Given the description of an element on the screen output the (x, y) to click on. 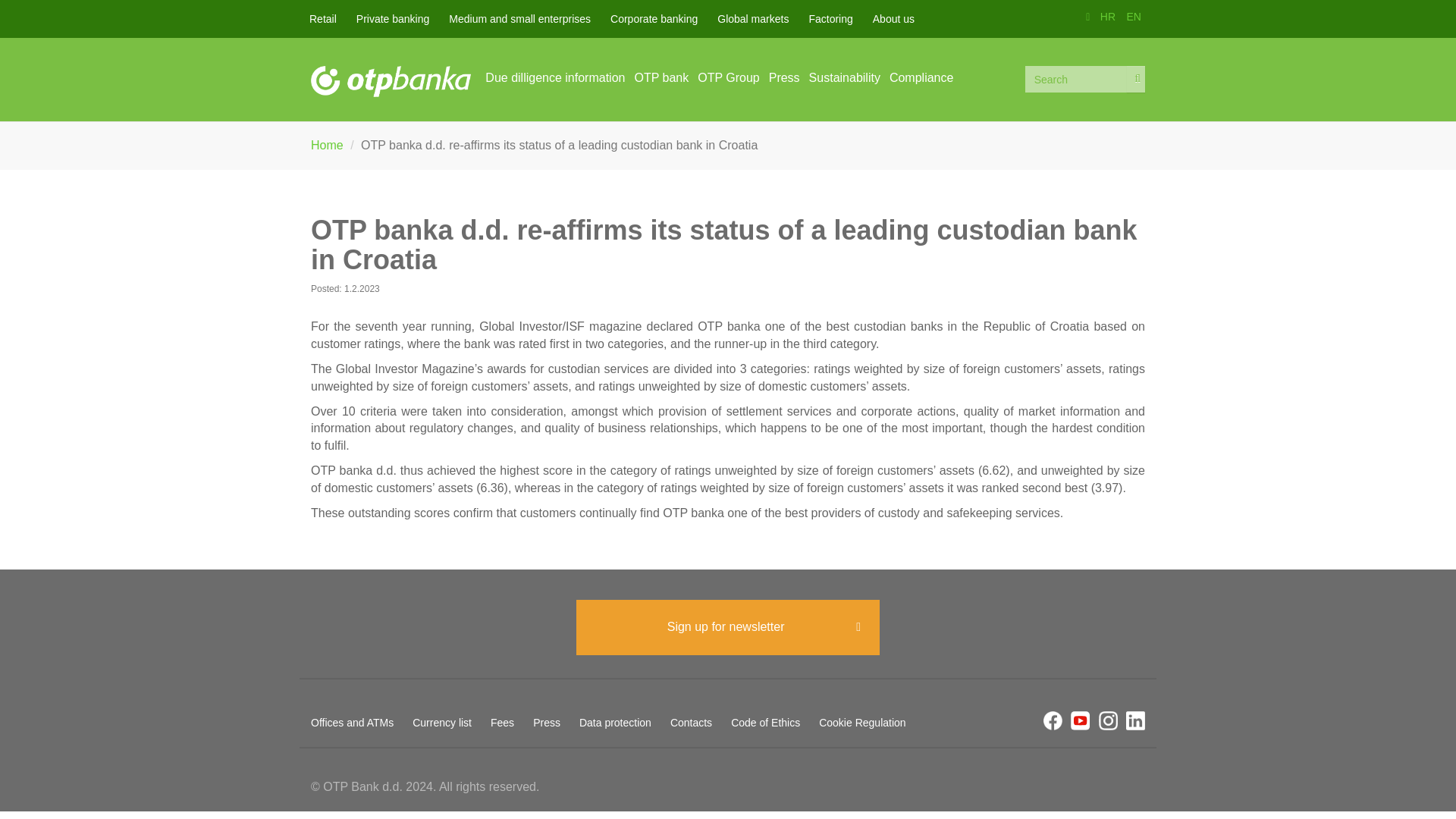
Currency list (451, 721)
Sustainability (839, 77)
Due dilligence information (550, 77)
Cookie Regulation (871, 721)
OTP bank (656, 77)
Home (390, 81)
Press (555, 721)
